Given the description of an element on the screen output the (x, y) to click on. 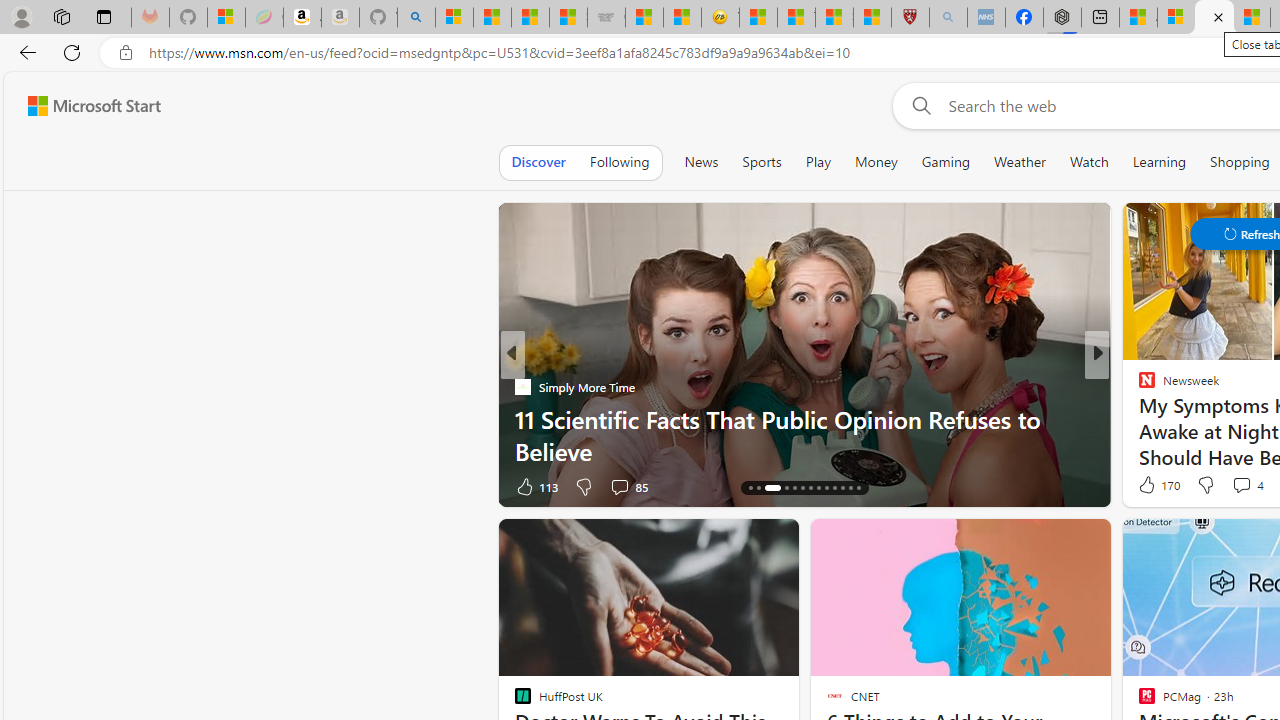
View comments 34 Comment (1234, 485)
View comments 1 Comment (1234, 486)
AutomationID: tab-14 (750, 487)
Sports (761, 162)
View comments 11 Comment (1244, 486)
AutomationID: tab-16 (772, 487)
Money (876, 162)
View comments 231 Comment (1228, 485)
Combat Siege (605, 17)
View comments 85 Comment (619, 485)
